Given the description of an element on the screen output the (x, y) to click on. 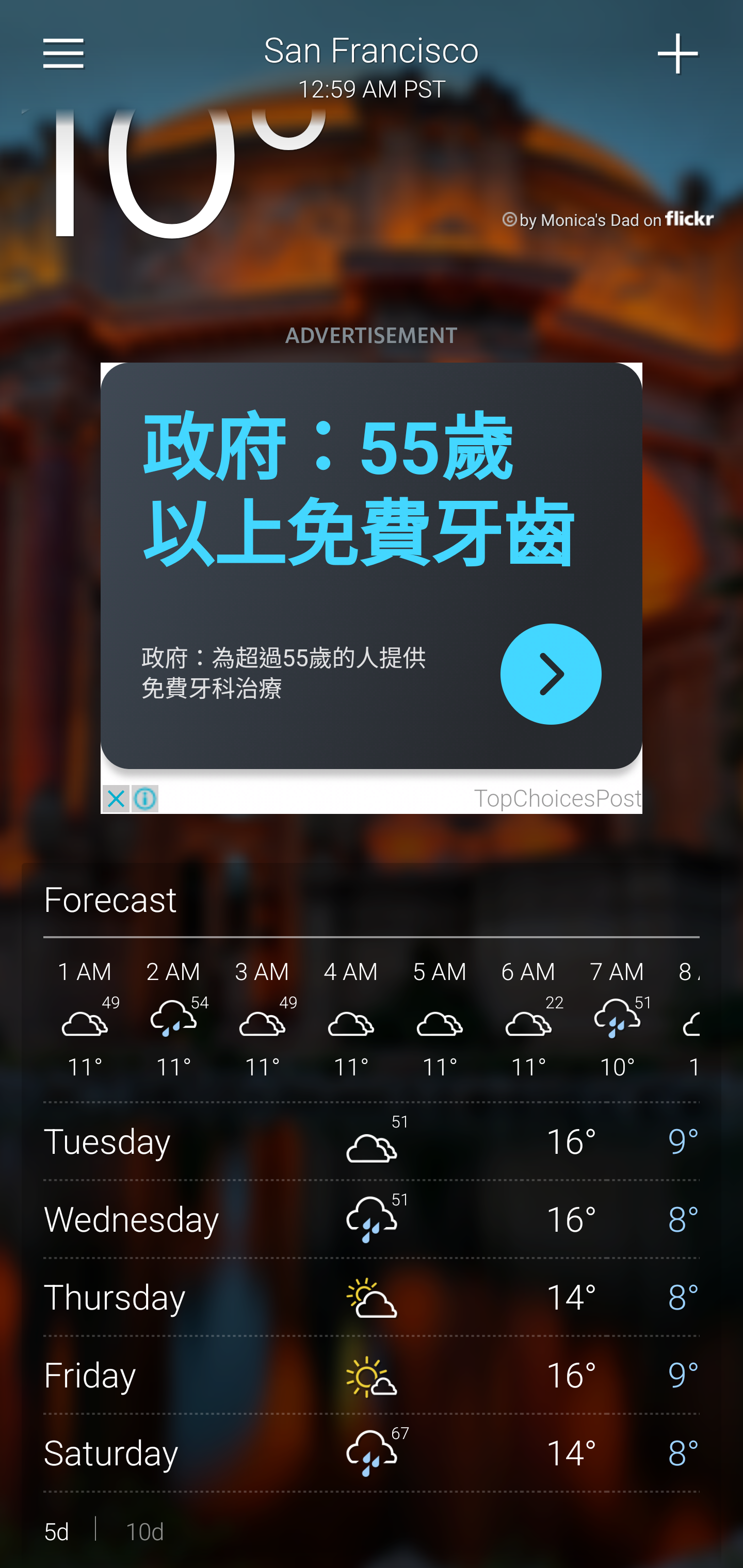
Sidebar (64, 54)
Add City (678, 53)
政府：55歲 以上免費牙齒 政府：55歲 
 以上免費牙齒 (357, 493)
政府：為超過55歲的人提供 免費牙科治療 政府：為超過55歲的人提供 
 免費牙科治療 (283, 674)
TopChoicesPost (557, 799)
